Given the description of an element on the screen output the (x, y) to click on. 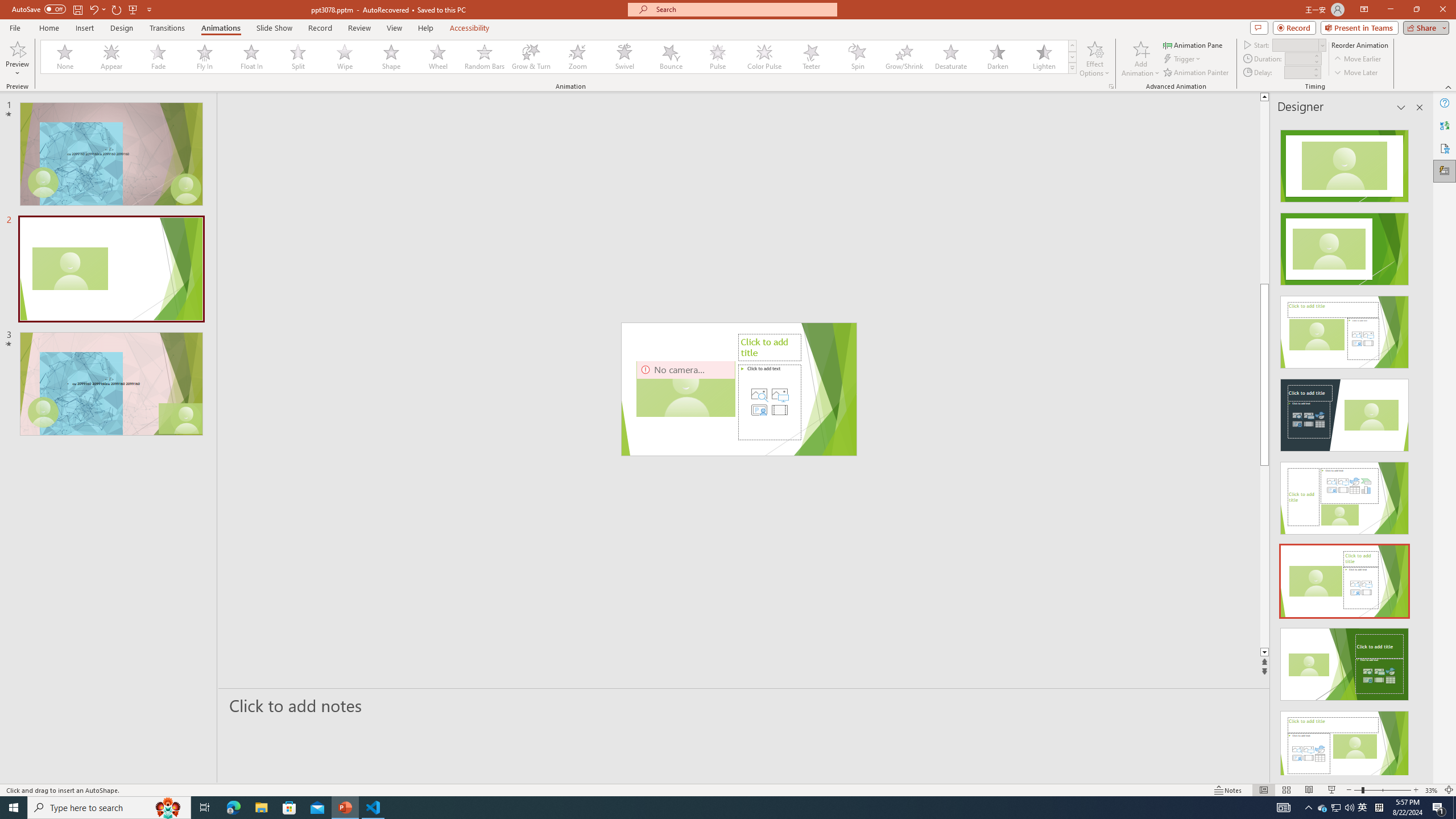
Move Earlier (1357, 58)
